Given the description of an element on the screen output the (x, y) to click on. 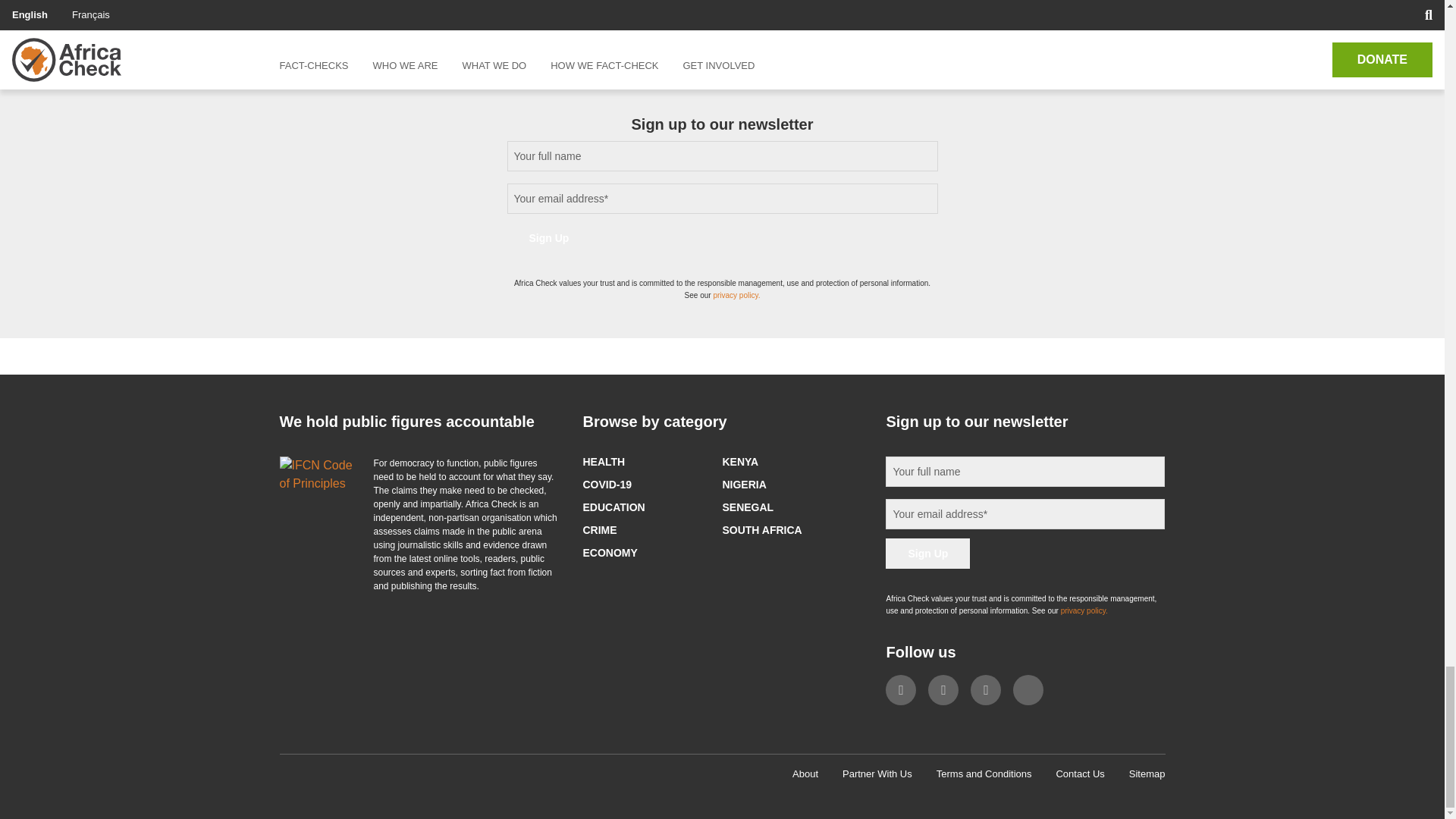
Sign Up (548, 237)
Sign Up (927, 553)
Save (319, 2)
IFCN signatory (317, 474)
